Given the description of an element on the screen output the (x, y) to click on. 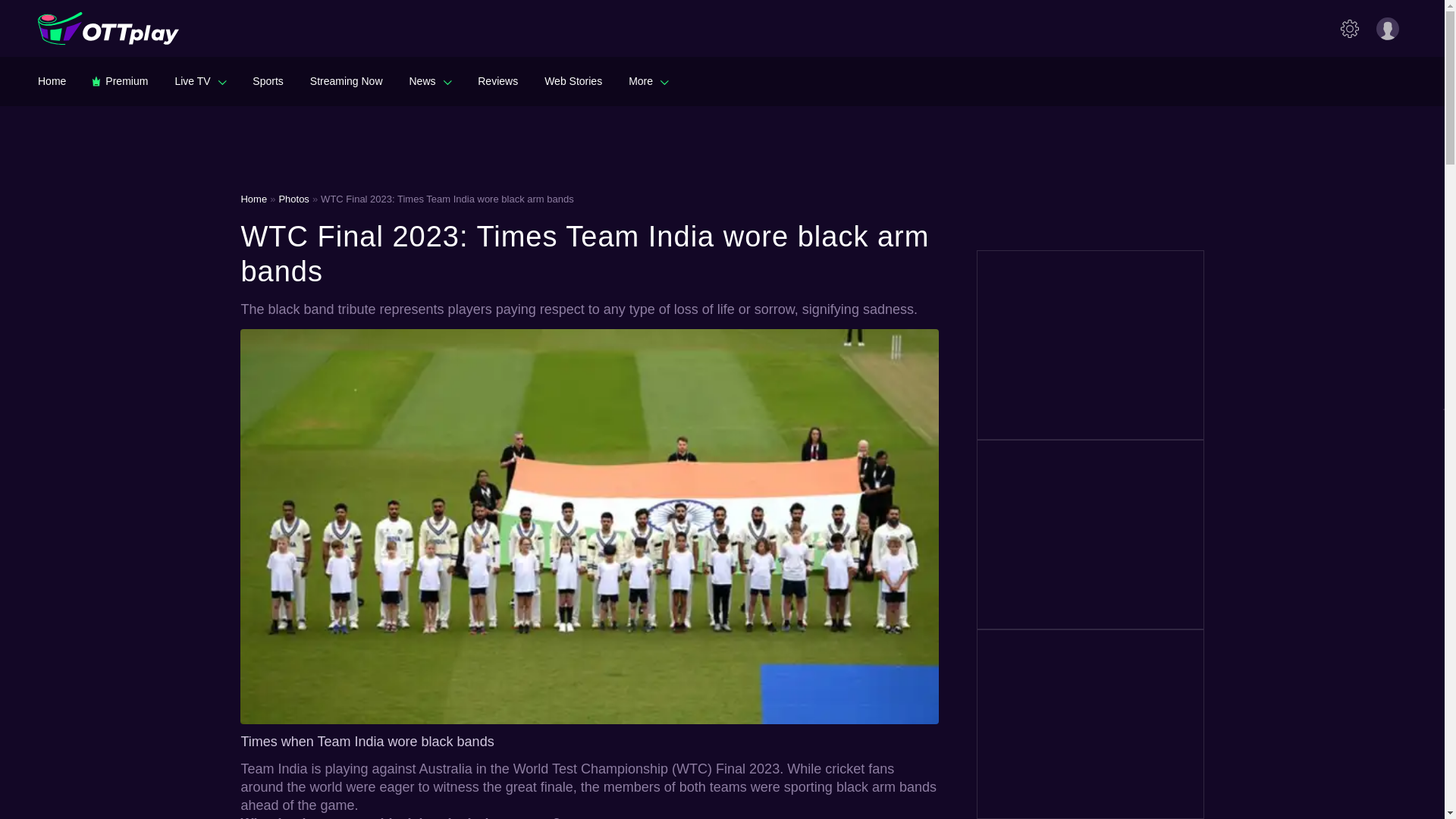
Web Stories (573, 80)
News (430, 80)
Live TV (199, 80)
Streaming Now (346, 80)
Premium (120, 80)
